Given the description of an element on the screen output the (x, y) to click on. 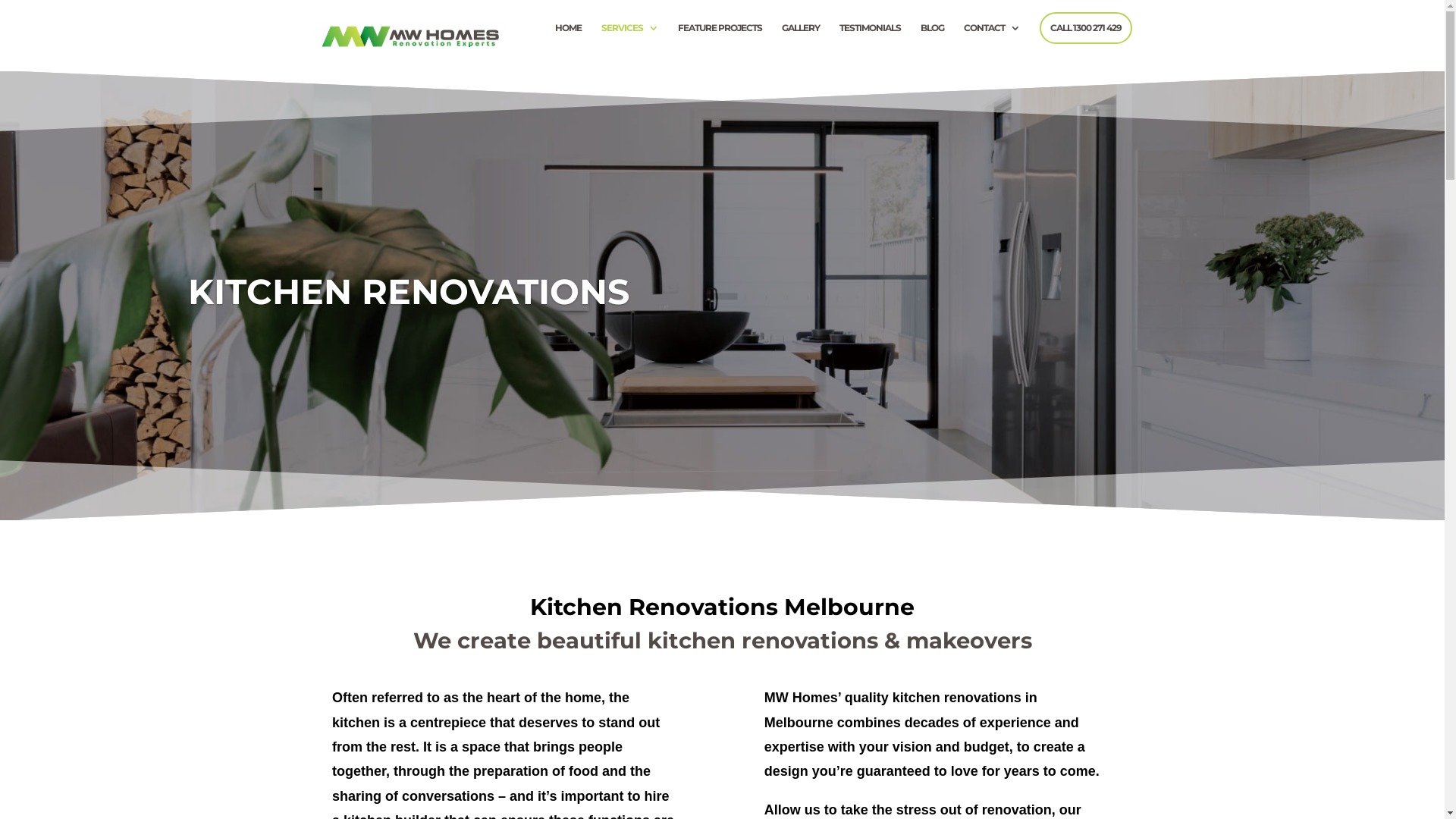
HOME Element type: text (568, 46)
FEATURE PROJECTS Element type: text (719, 46)
CALL 1300 271 429 Element type: text (1084, 27)
BLOG Element type: text (932, 46)
GALLERY Element type: text (800, 46)
TESTIMONIALS Element type: text (869, 46)
CONTACT Element type: text (991, 46)
SERVICES Element type: text (628, 46)
KITCHEN RENOVATIONS Element type: text (408, 291)
